Given the description of an element on the screen output the (x, y) to click on. 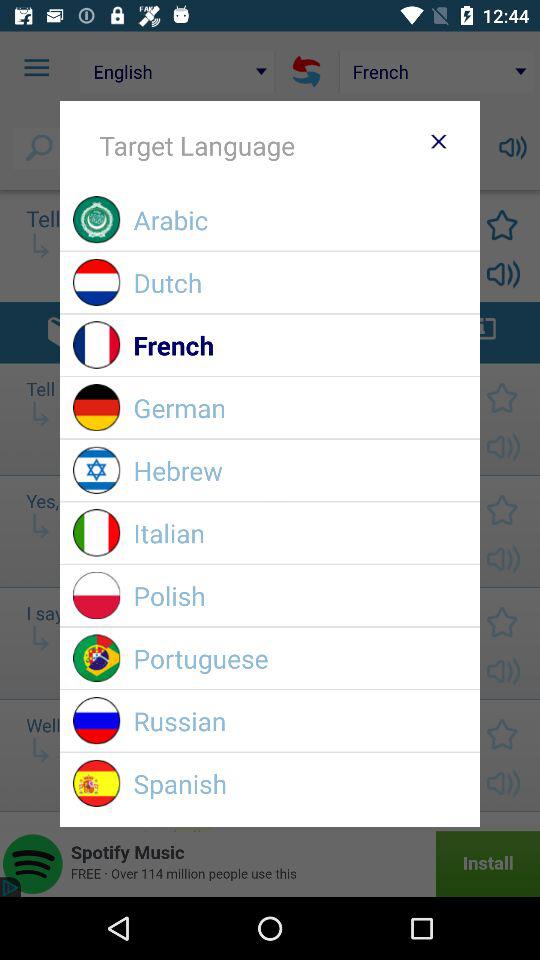
choose icon above the dutch icon (300, 219)
